Given the description of an element on the screen output the (x, y) to click on. 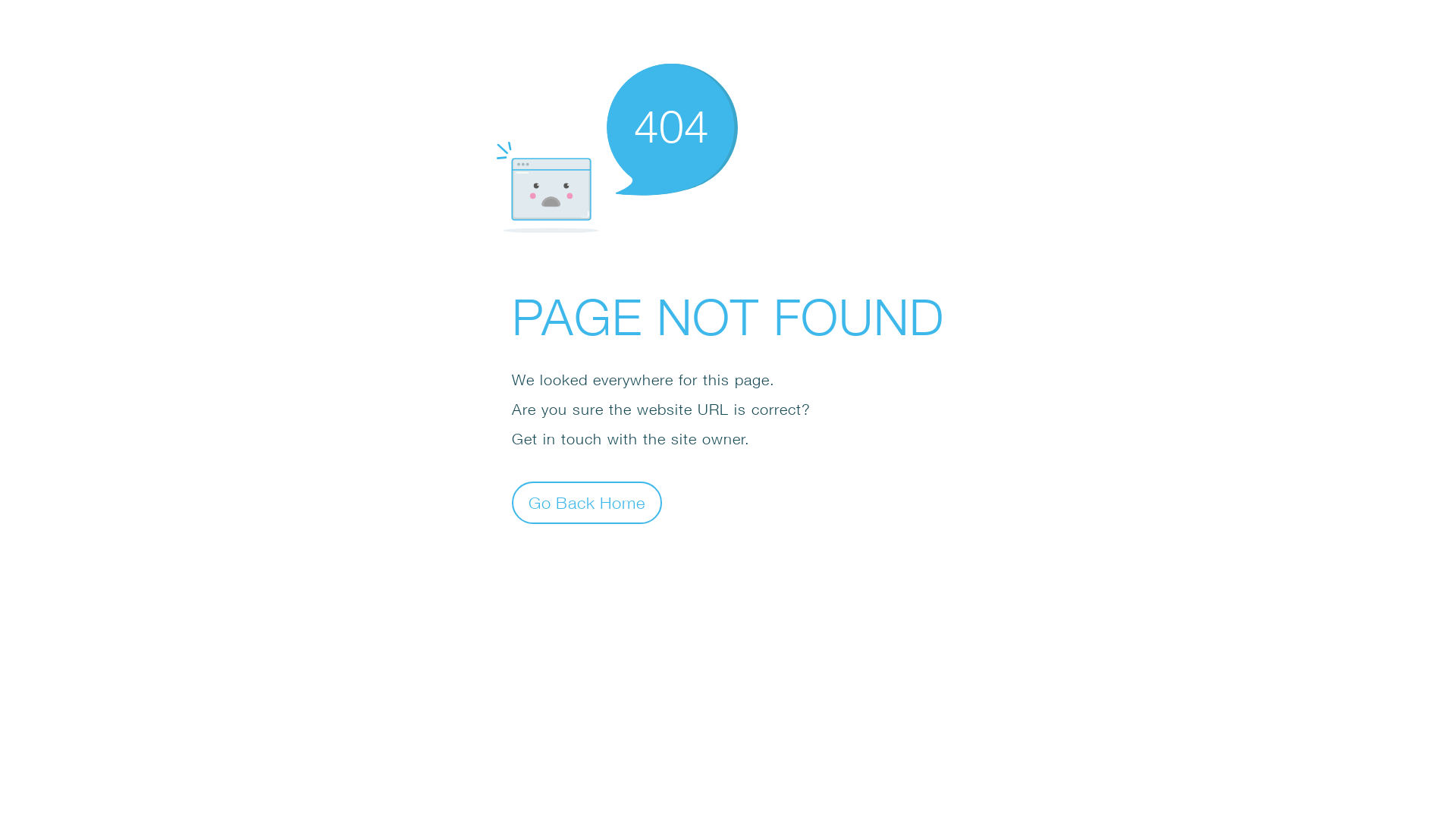
Go Back Home Element type: text (586, 502)
